Given the description of an element on the screen output the (x, y) to click on. 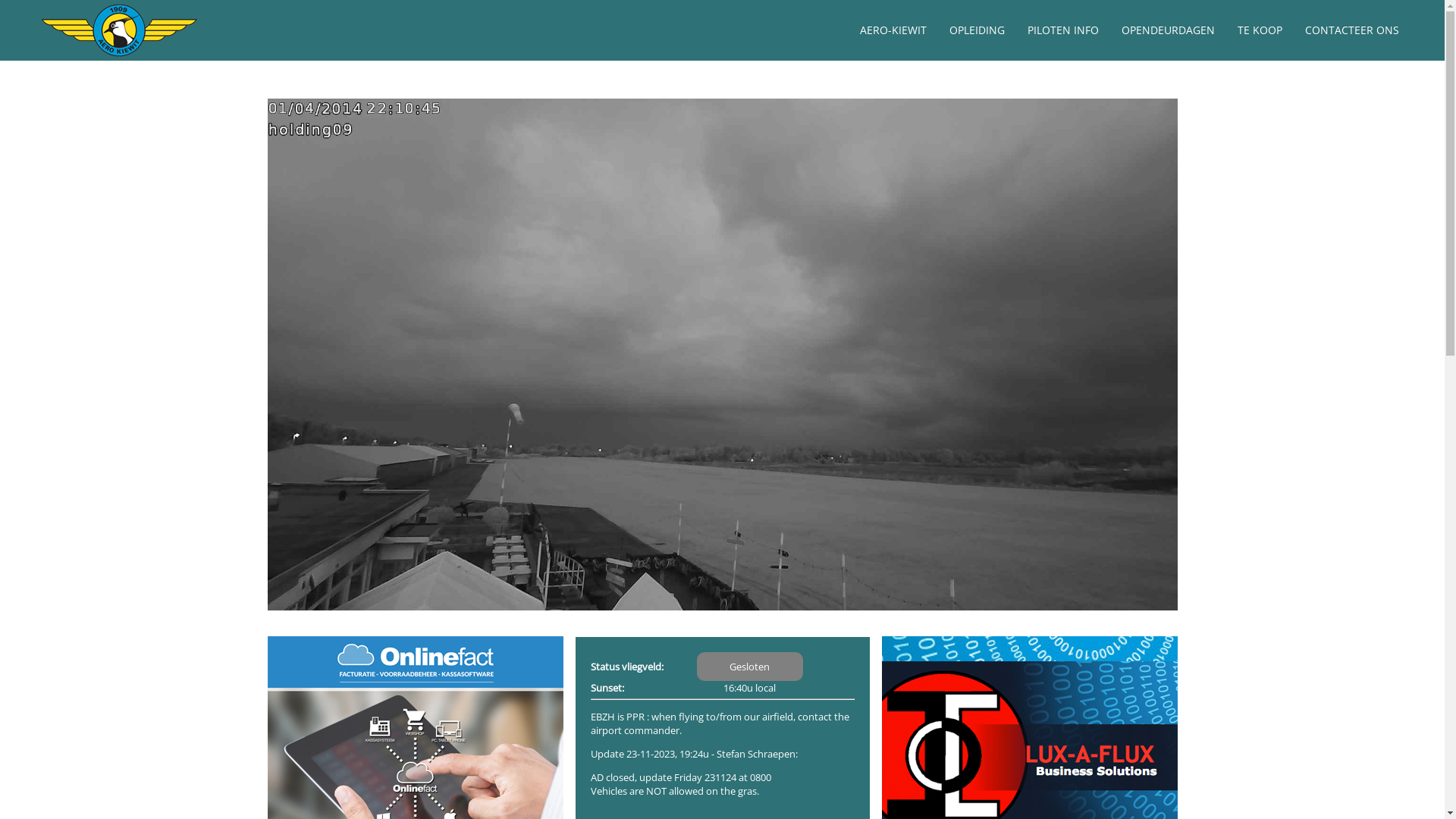
CONTACTEER ONS Element type: text (1352, 30)
PILOTEN INFO Element type: text (1062, 30)
OPLEIDING Element type: text (976, 30)
OPENDEURDAGEN Element type: text (1167, 30)
TE KOOP Element type: text (1259, 30)
AERO-KIEWIT Element type: text (892, 30)
